Given the description of an element on the screen output the (x, y) to click on. 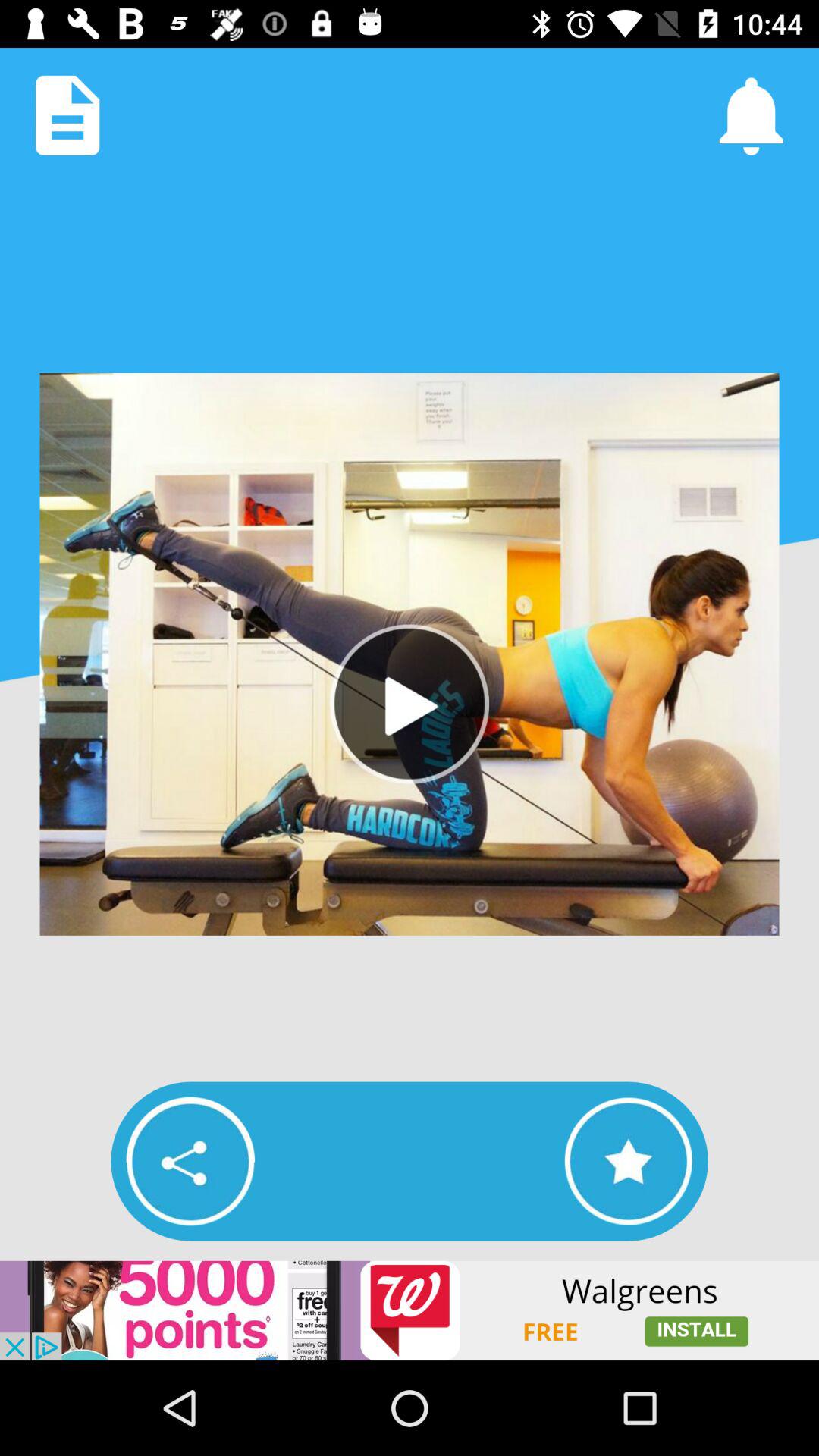
redirects you to offer page (409, 1310)
